Given the description of an element on the screen output the (x, y) to click on. 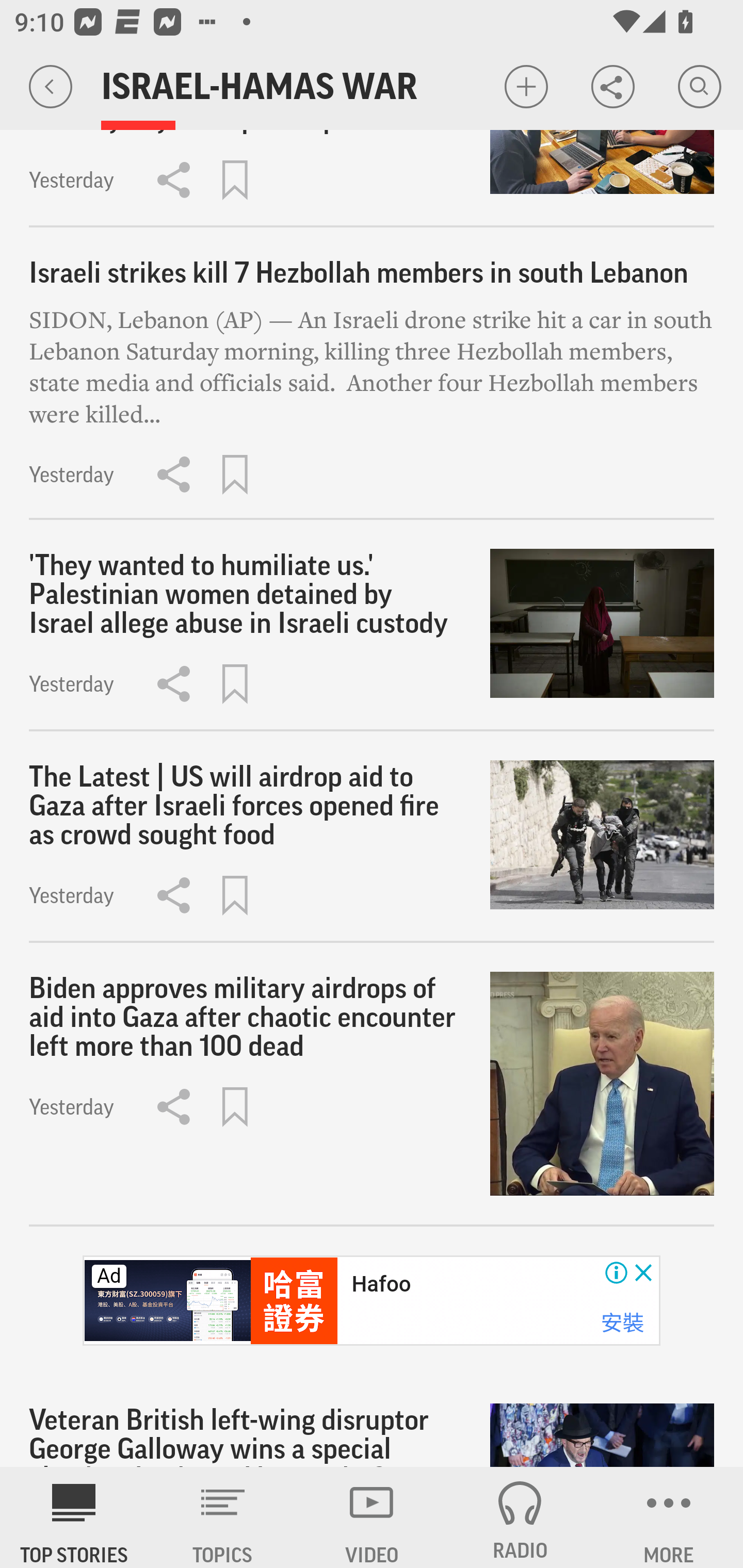
Hafoo (381, 1284)
安裝 (621, 1322)
AP News TOP STORIES (74, 1517)
TOPICS (222, 1517)
VIDEO (371, 1517)
RADIO (519, 1517)
MORE (668, 1517)
